Given the description of an element on the screen output the (x, y) to click on. 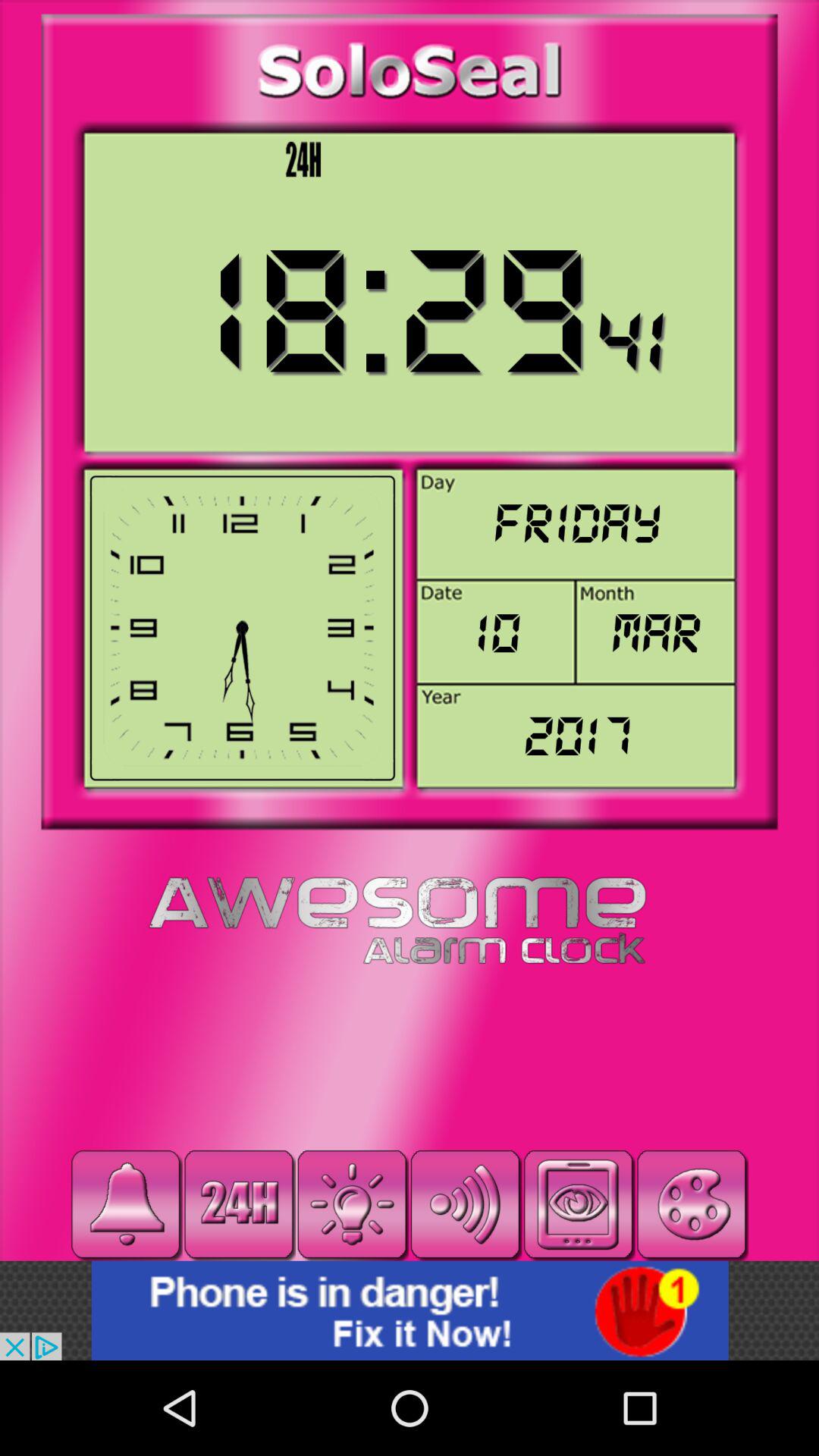
change clock appearance (691, 1203)
